Given the description of an element on the screen output the (x, y) to click on. 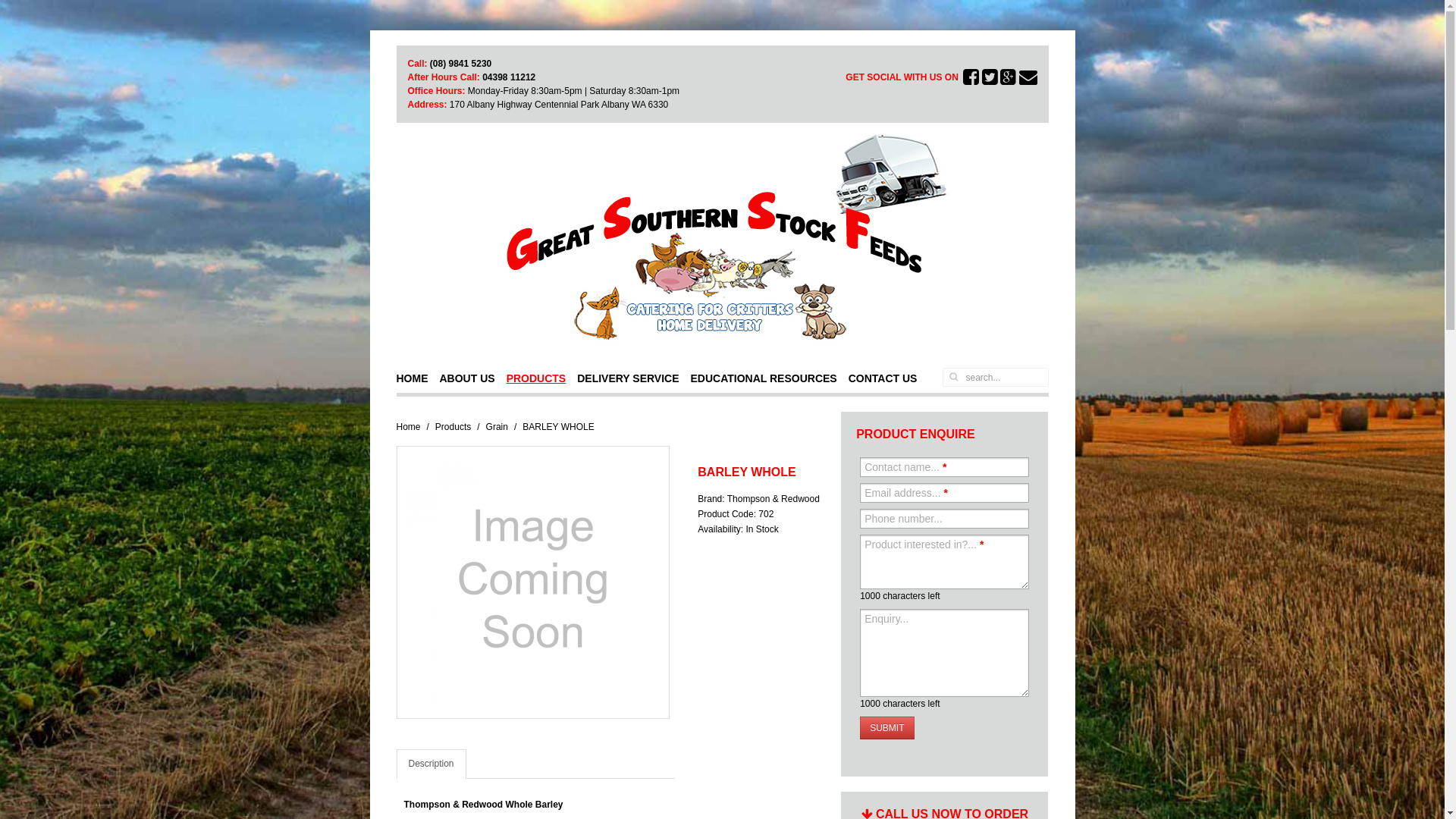
Home Element type: text (407, 426)
BARLEY WHOLE  Element type: hover (532, 582)
Products Element type: text (452, 426)
PRODUCTS Element type: text (541, 372)
ABOUT US Element type: text (472, 372)
Thompson & Redwood Element type: text (773, 498)
DELIVERY SERVICE Element type: text (633, 372)
HOME Element type: text (417, 372)
EDUCATIONAL RESOURCES Element type: text (769, 372)
SUBMIT Element type: text (886, 727)
CONTACT US Element type: text (888, 372)
Description Element type: text (430, 763)
BARLEY WHOLE  Element type: hover (531, 581)
Grain Element type: text (497, 426)
